Given the description of an element on the screen output the (x, y) to click on. 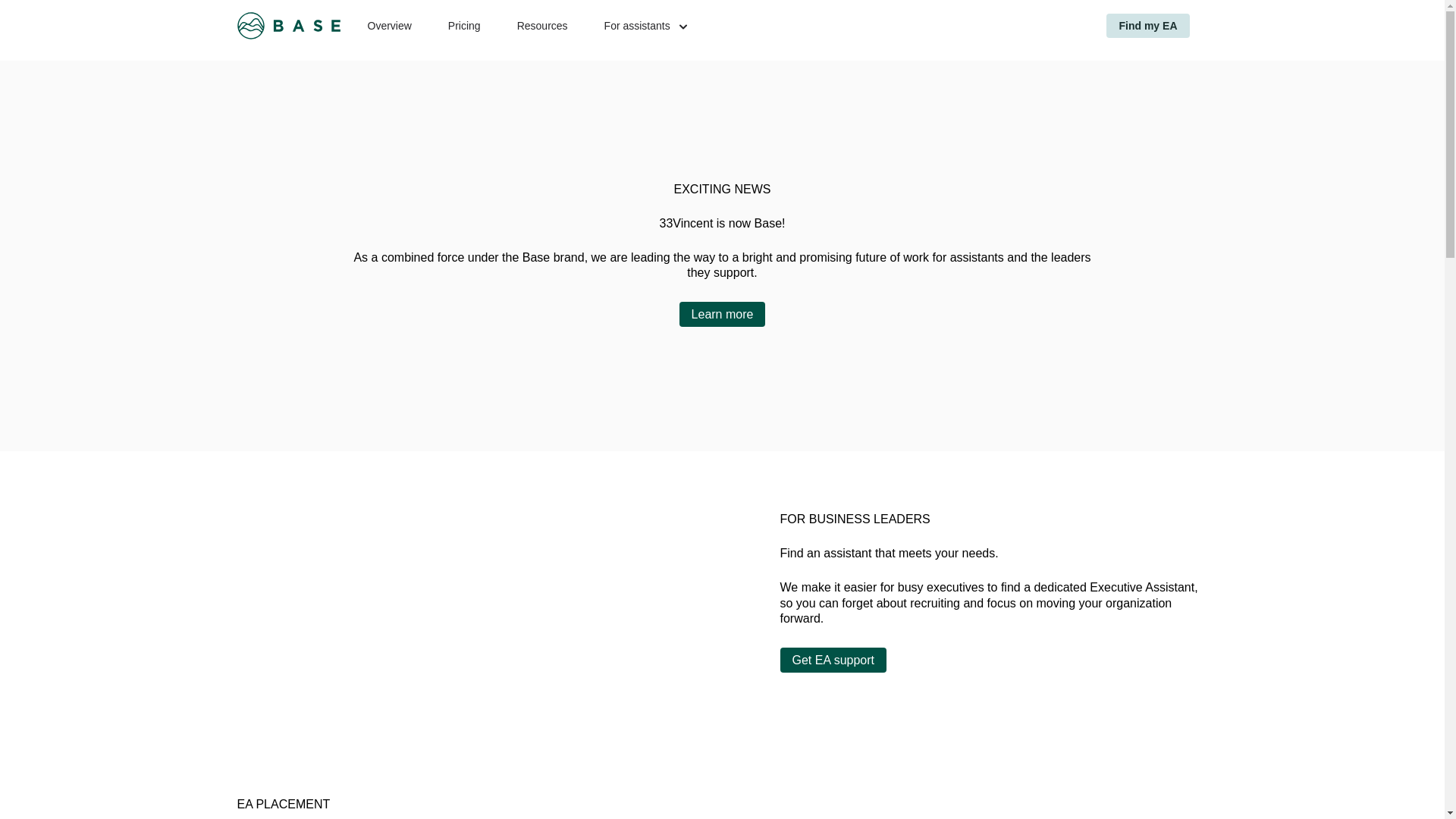
Resources (541, 25)
For assistants (636, 25)
Get EA support (832, 659)
Overview (388, 25)
Find my EA (1147, 25)
Learn more (722, 314)
Pricing (464, 25)
